Given the description of an element on the screen output the (x, y) to click on. 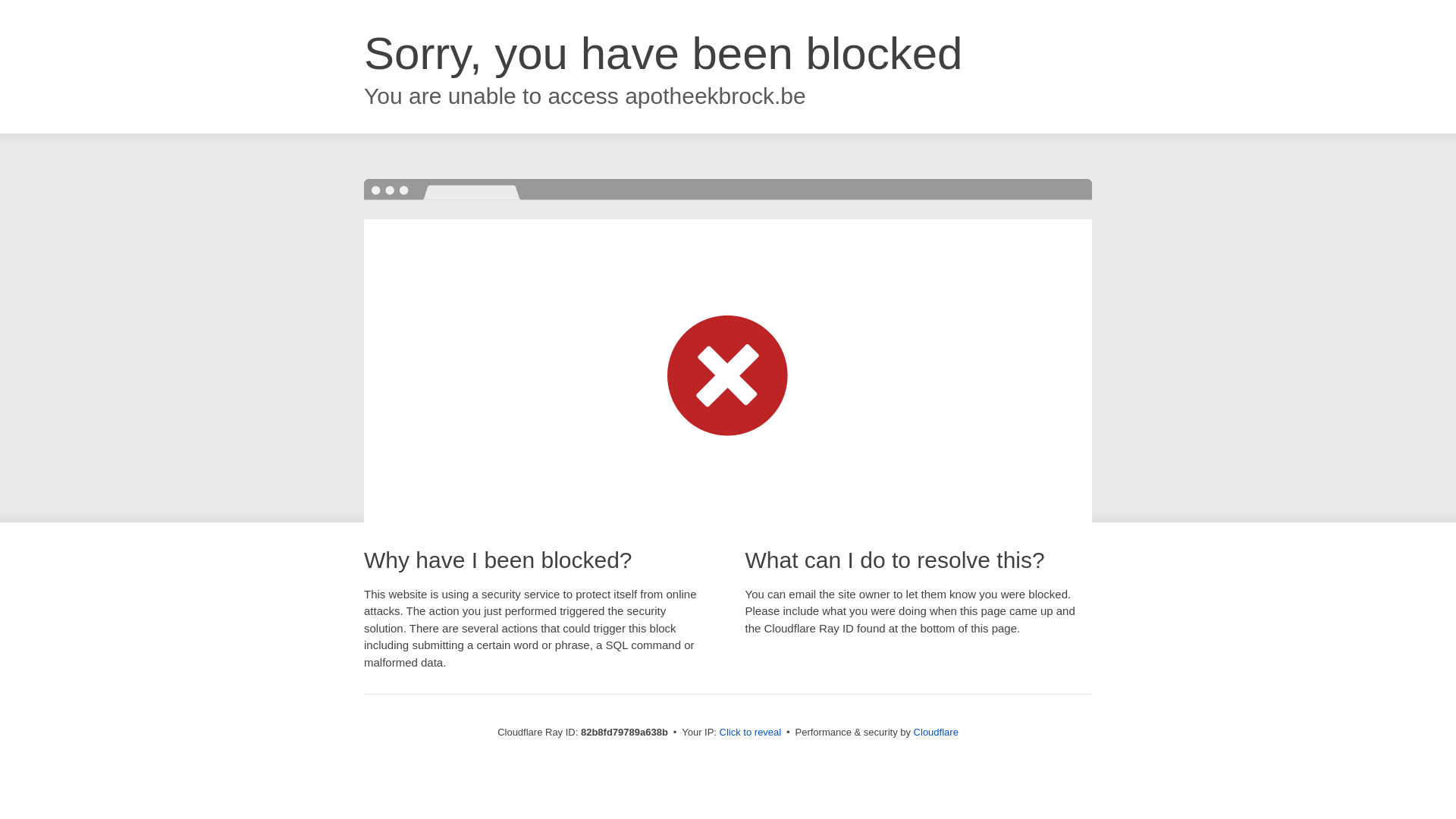
Cloudflare Element type: text (935, 731)
Click to reveal Element type: text (750, 732)
